Given the description of an element on the screen output the (x, y) to click on. 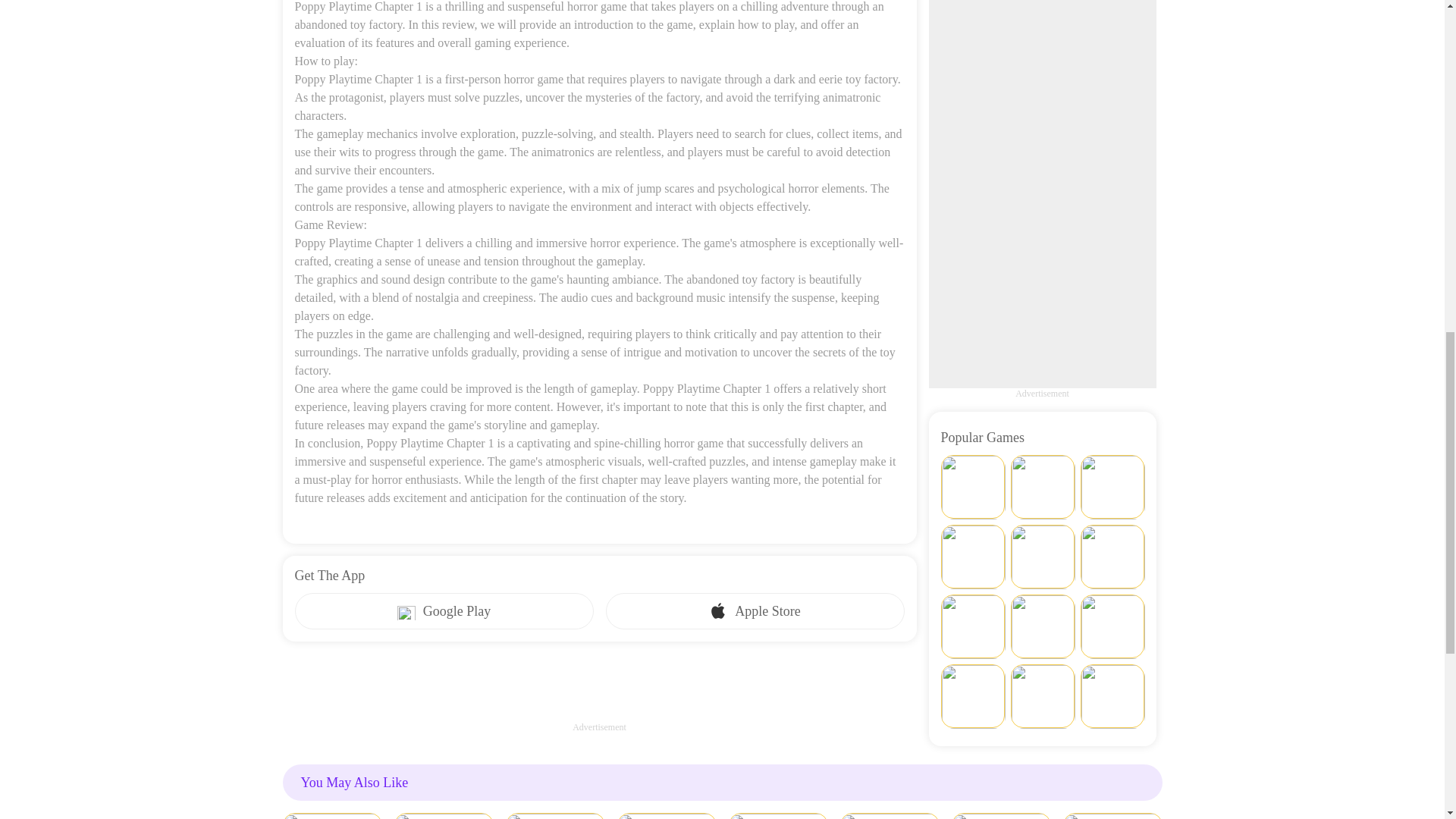
Apple Store (754, 610)
You May Also Like (721, 782)
Google Play (443, 610)
